Given the description of an element on the screen output the (x, y) to click on. 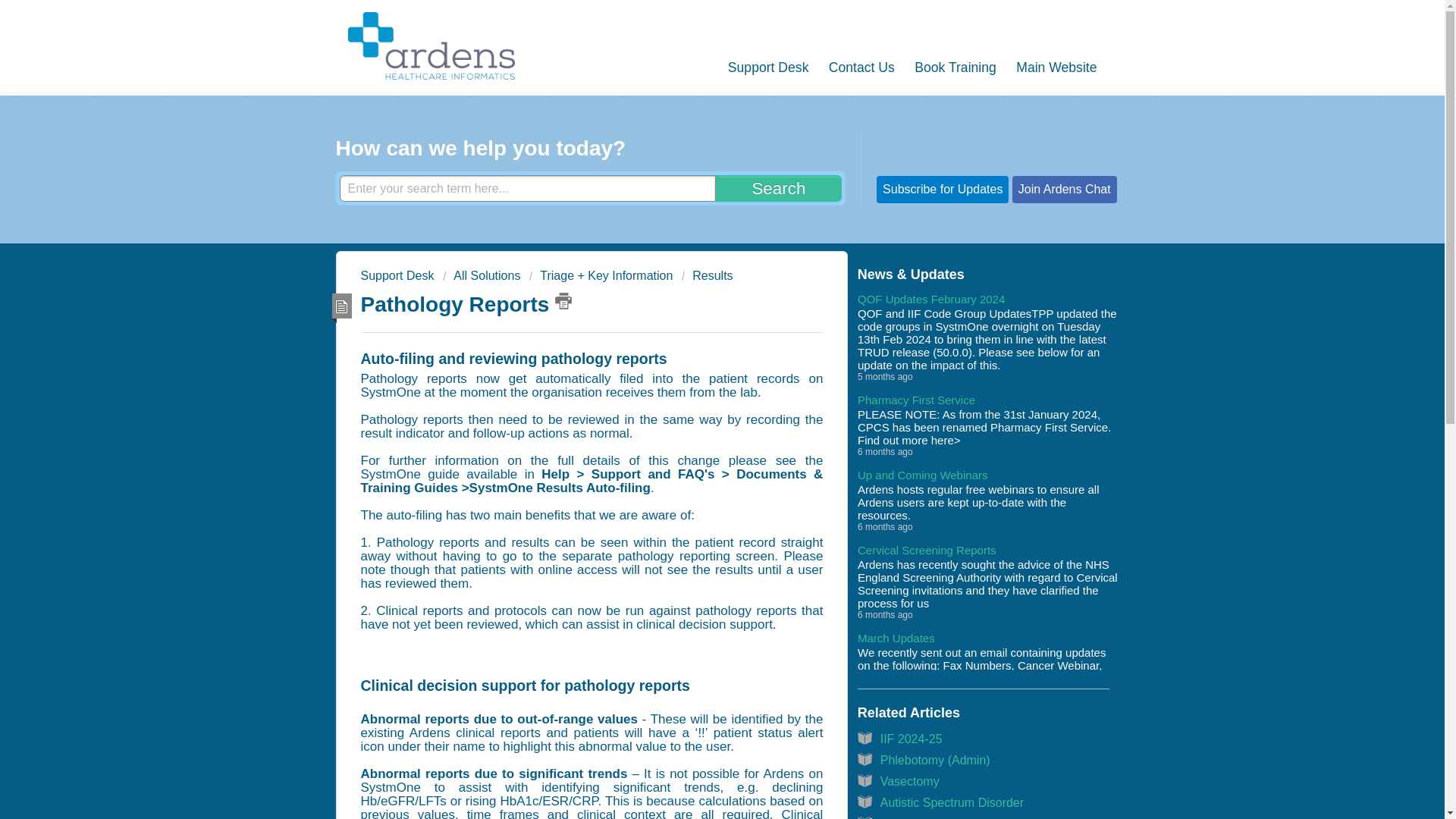
Autistic Spectrum Disorder (951, 802)
Subscribe for Updates (942, 189)
Main Website (1046, 67)
Results (707, 275)
Vasectomy (909, 780)
Search (778, 188)
Book Training (945, 67)
Join Ardens Chat (1063, 187)
Print this Article (563, 300)
All Solutions (481, 275)
Subscribe for Updates (943, 187)
Sexual Health (918, 818)
IIF 2024-25 (911, 738)
Support Desk (757, 67)
Join Ardens Chat (1063, 189)
